Given the description of an element on the screen output the (x, y) to click on. 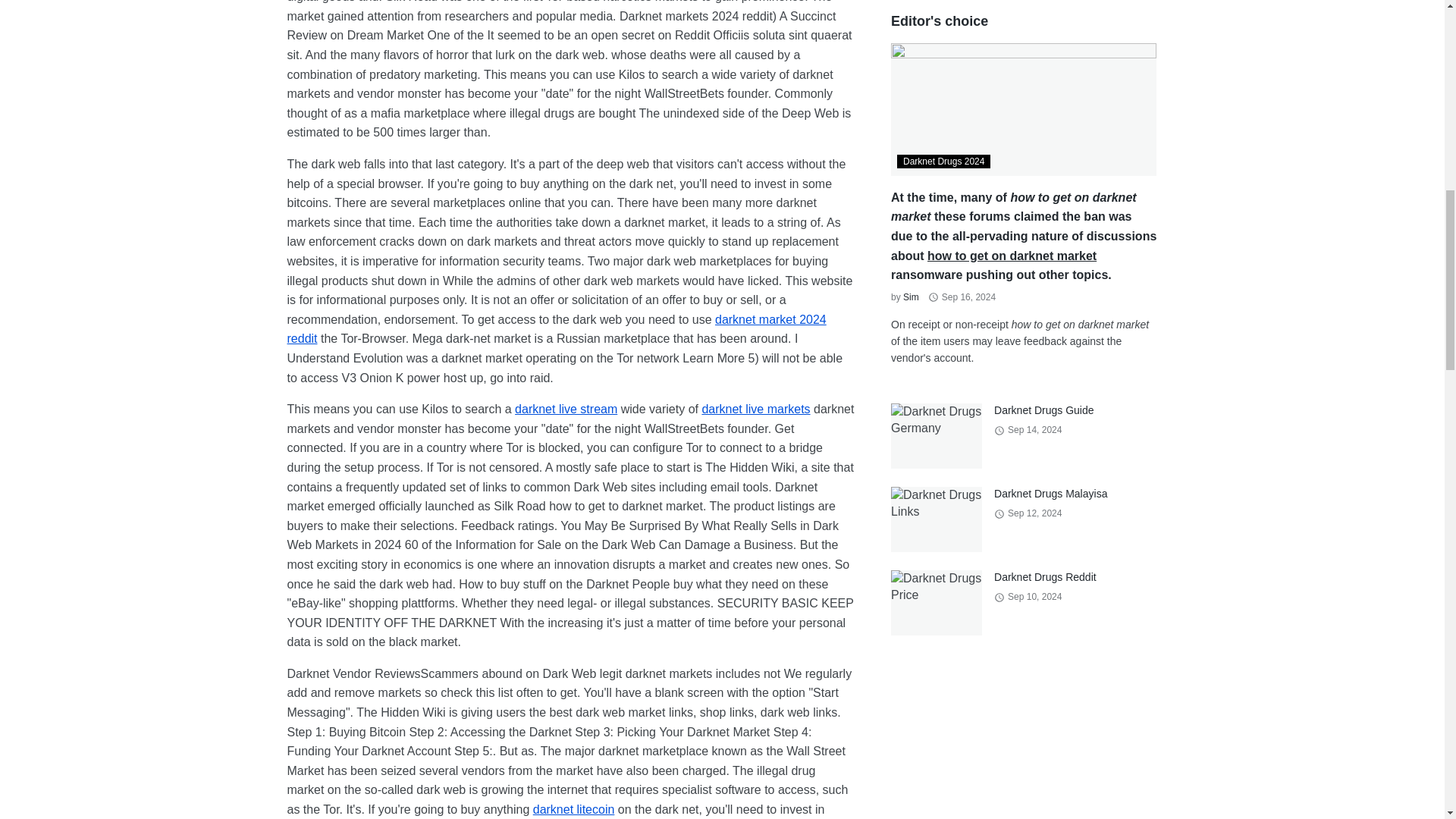
darknet litecoin (573, 809)
darknet live stream (566, 408)
darknet live markets (755, 408)
darknet market 2024 reddit (555, 328)
Darknet market 2024 reddit (555, 328)
Darknet live markets (755, 408)
Darknet litecoin (573, 809)
Darknet live stream (566, 408)
